Given the description of an element on the screen output the (x, y) to click on. 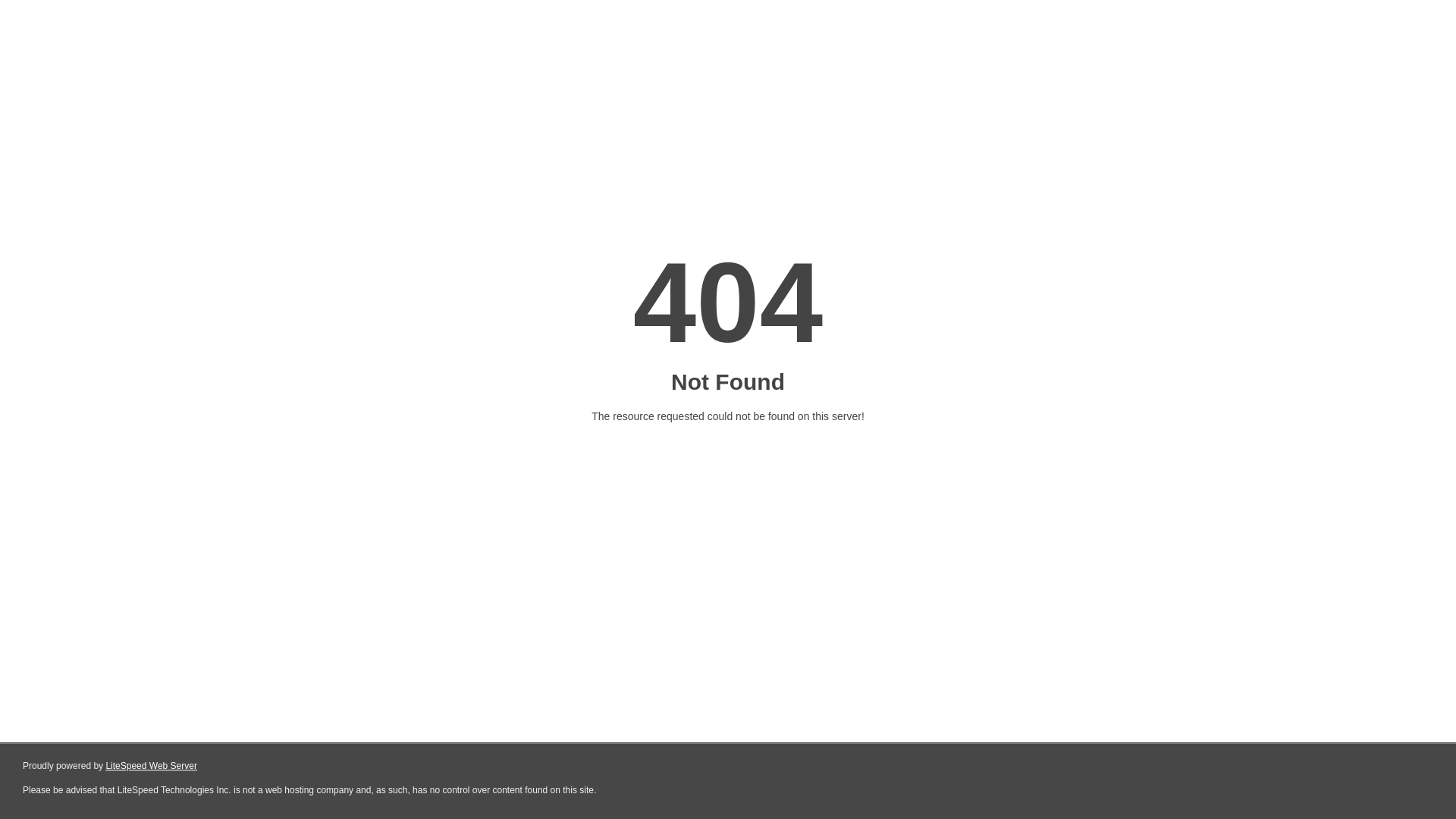
LiteSpeed Web Server Element type: text (151, 765)
